Given the description of an element on the screen output the (x, y) to click on. 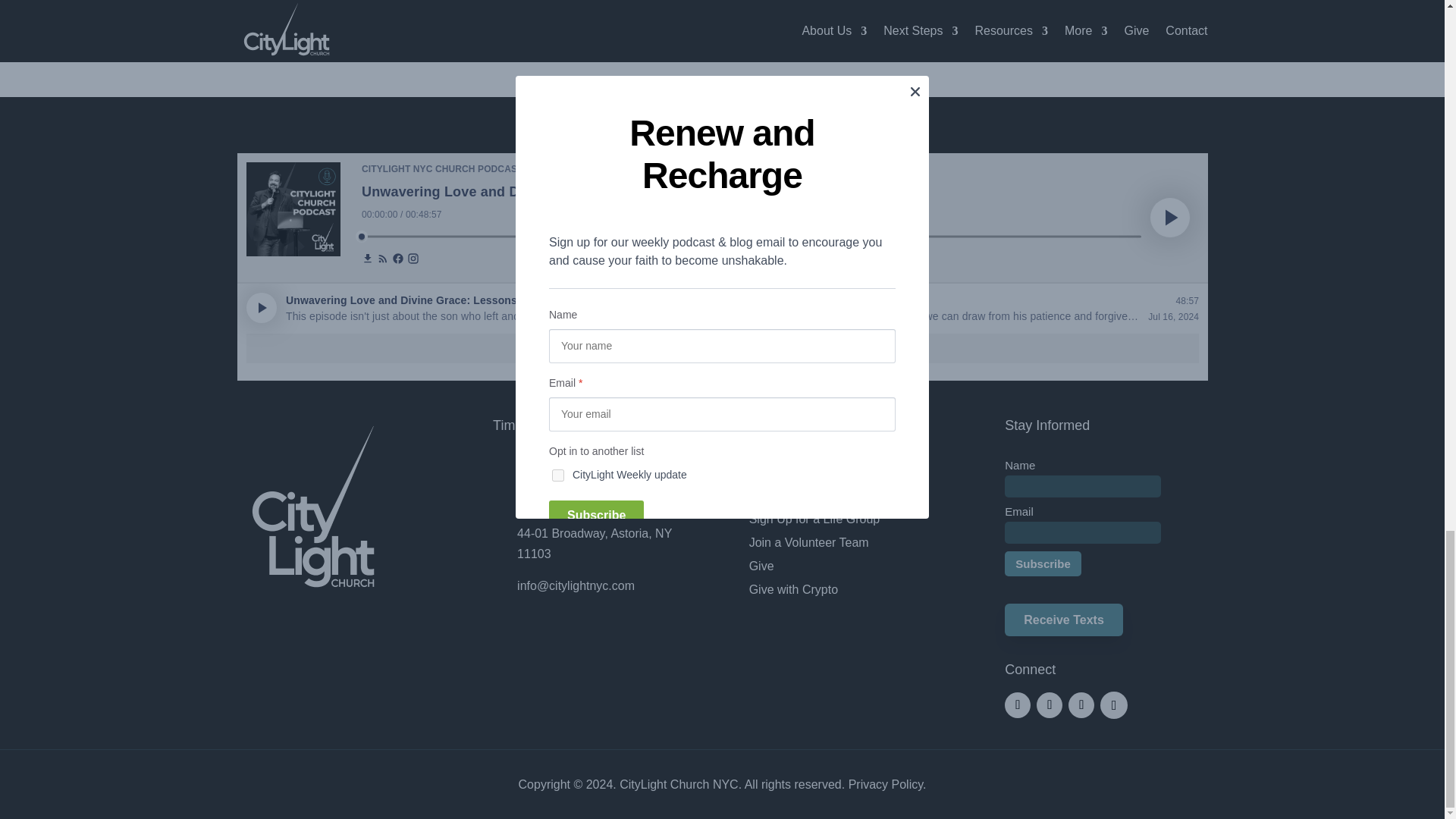
Follow on Instagram (1049, 705)
Follow on Facebook (1017, 705)
Follow on Youtube (1081, 705)
Follow on Spotify (1113, 705)
